Given the description of an element on the screen output the (x, y) to click on. 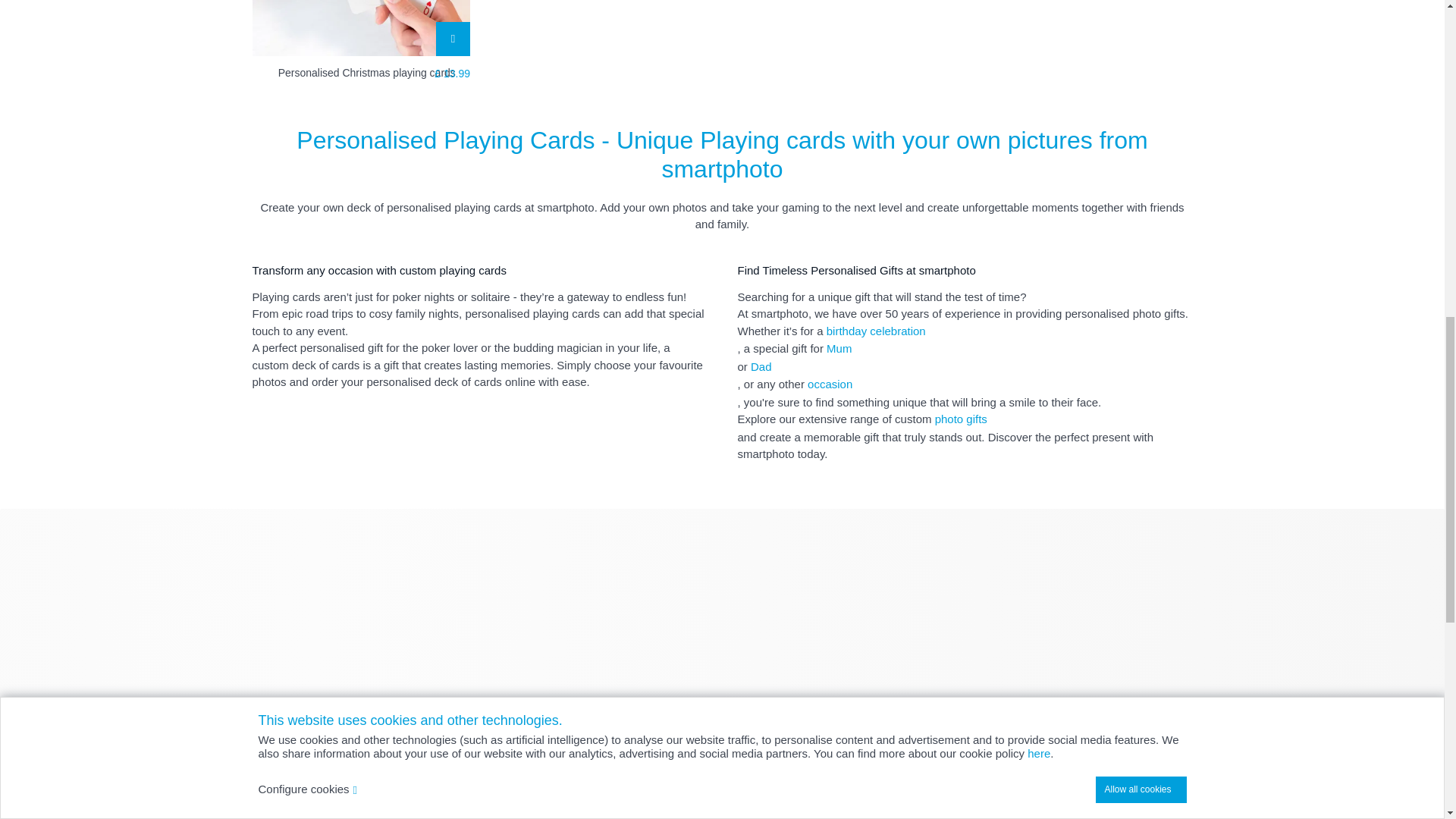
Temporarily unavailable (360, 28)
photo gifts (964, 427)
Personalised Christmas playing cards (374, 72)
occasion (964, 392)
Personalised Christmas playing cards (360, 28)
Mum (964, 357)
Dad (964, 375)
birthday celebration (964, 339)
